Given the description of an element on the screen output the (x, y) to click on. 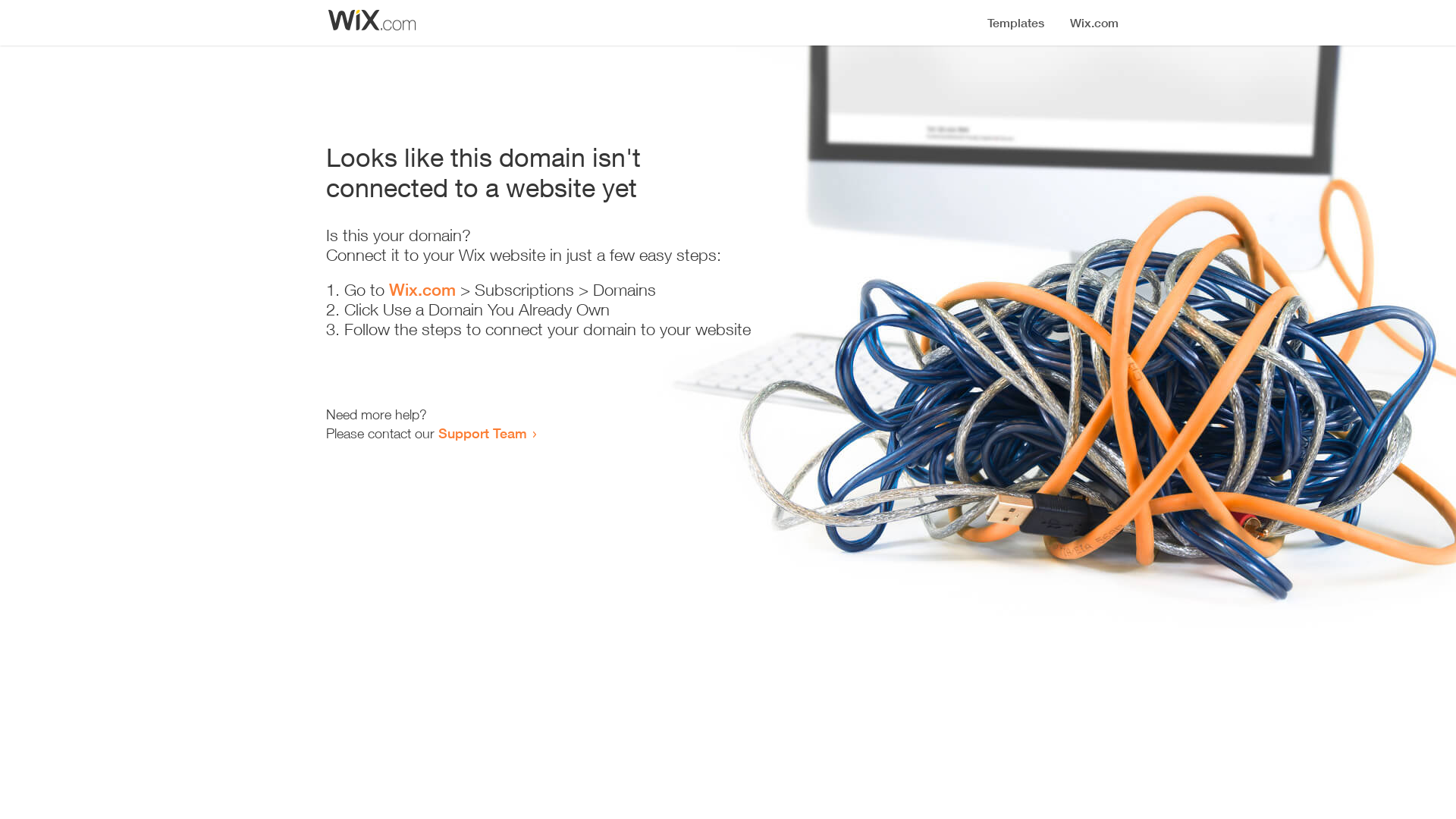
Support Team Element type: text (482, 432)
Wix.com Element type: text (422, 289)
